Given the description of an element on the screen output the (x, y) to click on. 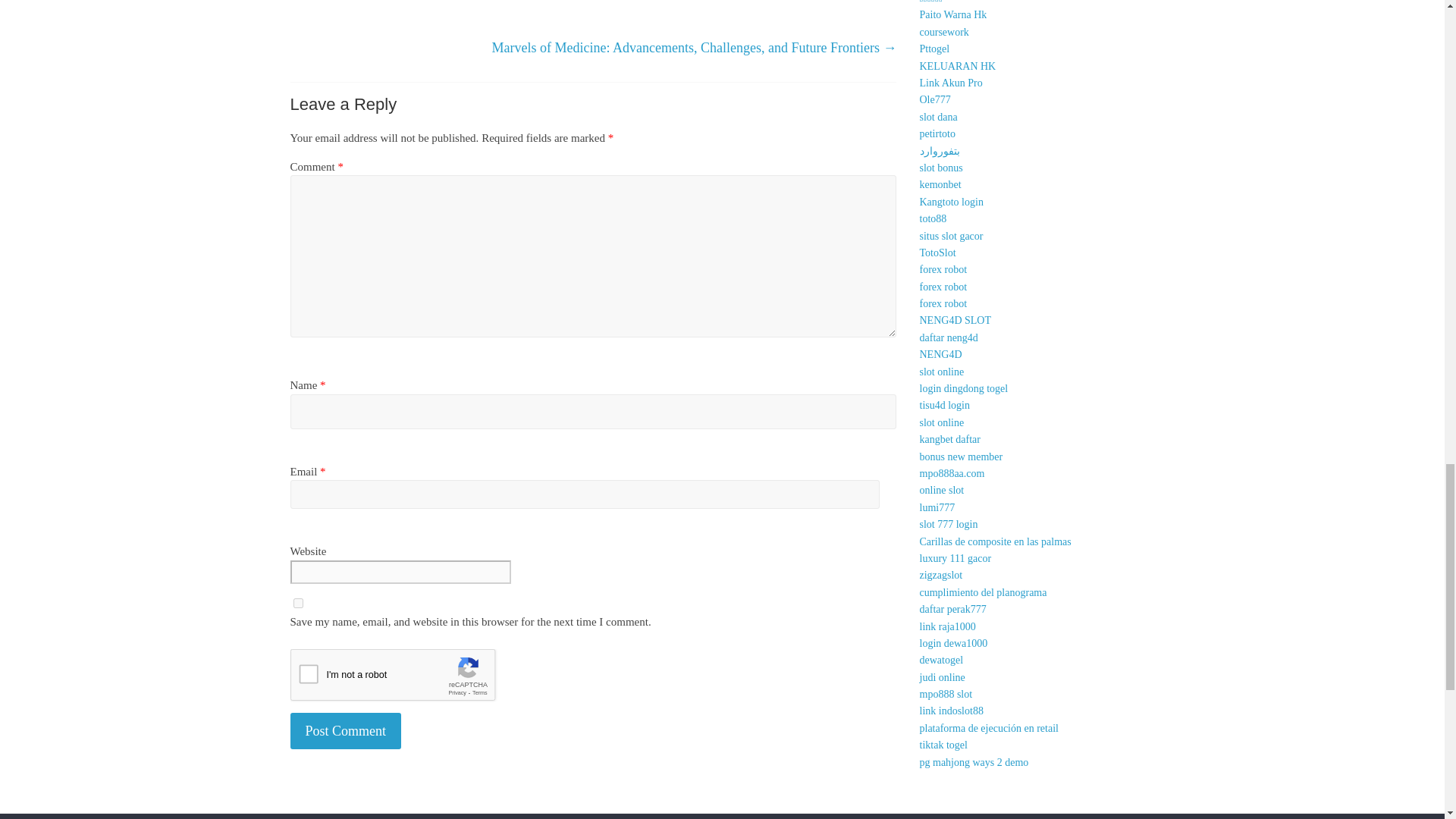
Post Comment (345, 731)
yes (297, 603)
Post Comment (345, 731)
reCAPTCHA (404, 678)
